Given the description of an element on the screen output the (x, y) to click on. 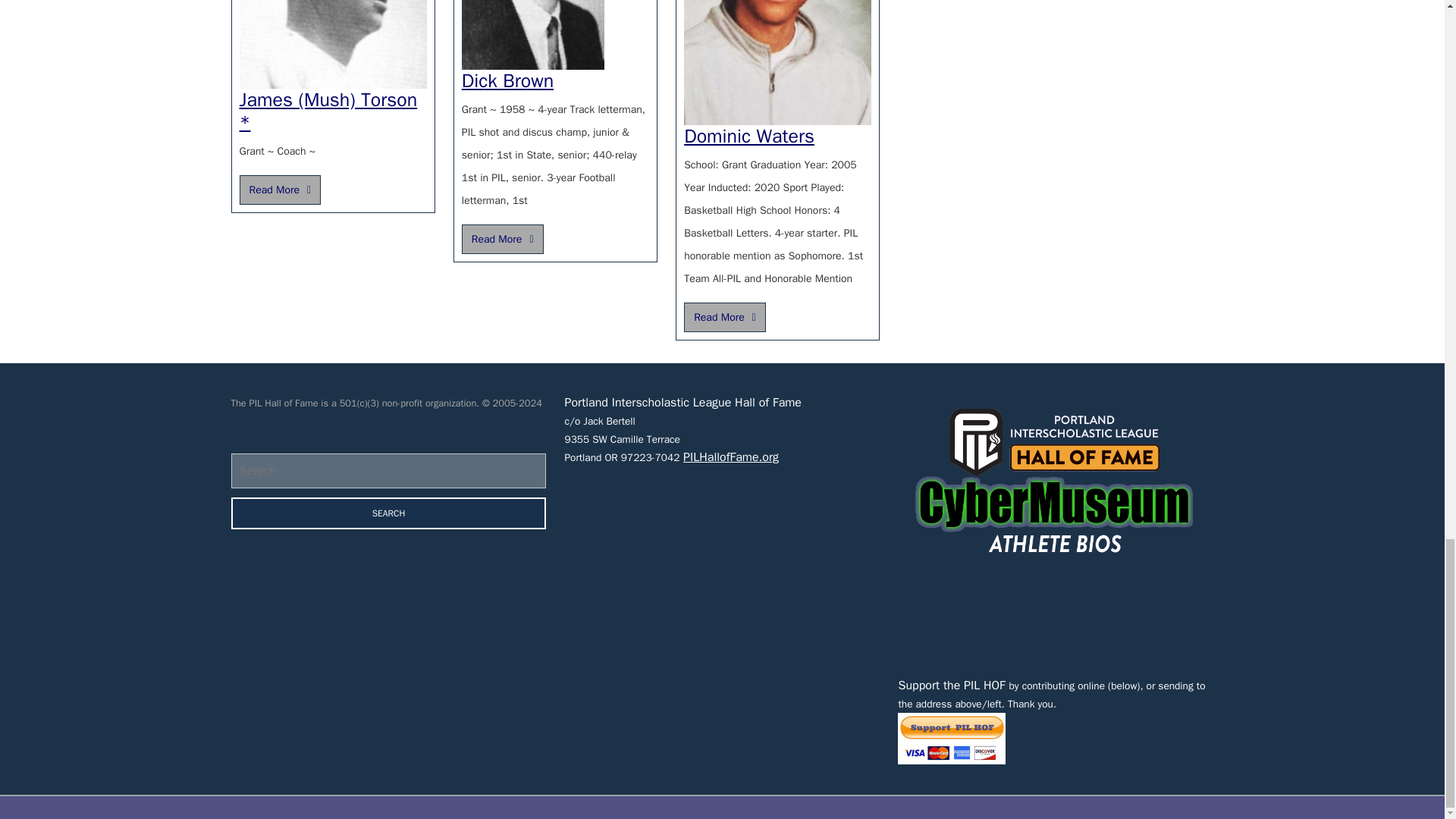
Search (507, 80)
Search (388, 513)
